Given the description of an element on the screen output the (x, y) to click on. 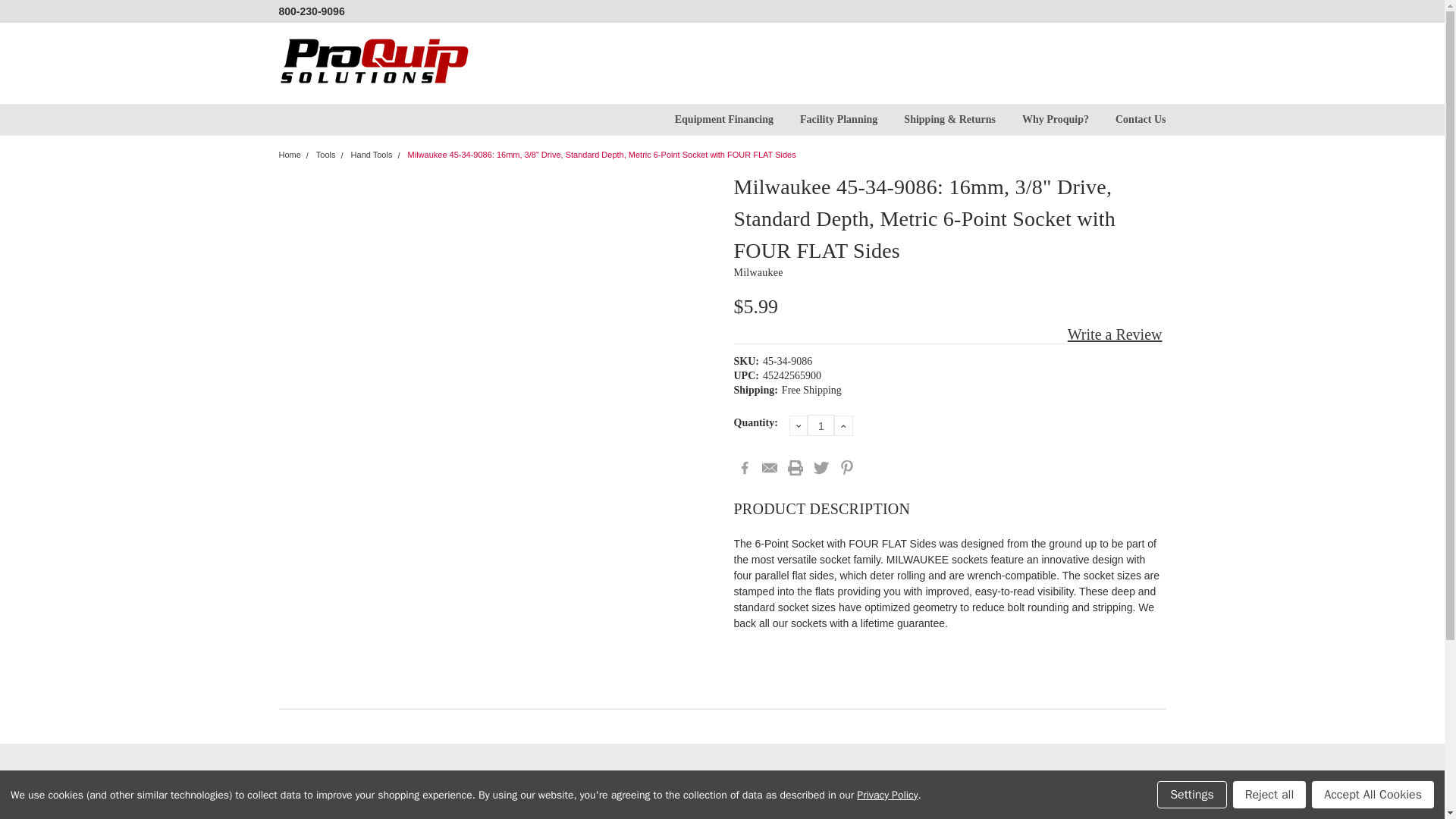
Twitter (820, 467)
Print (795, 467)
ProQuip Solutions (373, 62)
Pinterest (847, 467)
1 (821, 424)
800-230-9096 (312, 10)
Email (769, 467)
Facebook (744, 467)
